Given the description of an element on the screen output the (x, y) to click on. 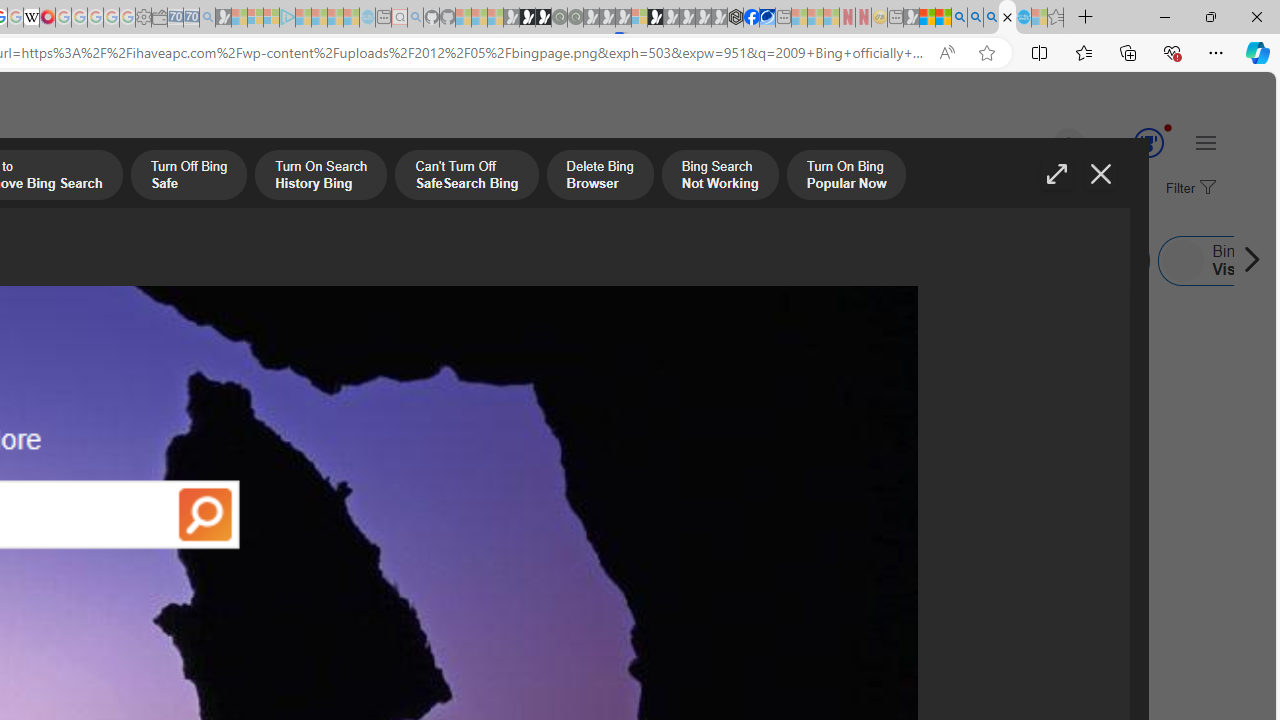
Can't Turn Off SafeSearch Bing (466, 177)
Technology History timeline | Timetoast timelines (185, 508)
Bing AI - Search (959, 17)
Turn Off Bing Safe (188, 177)
